Given the description of an element on the screen output the (x, y) to click on. 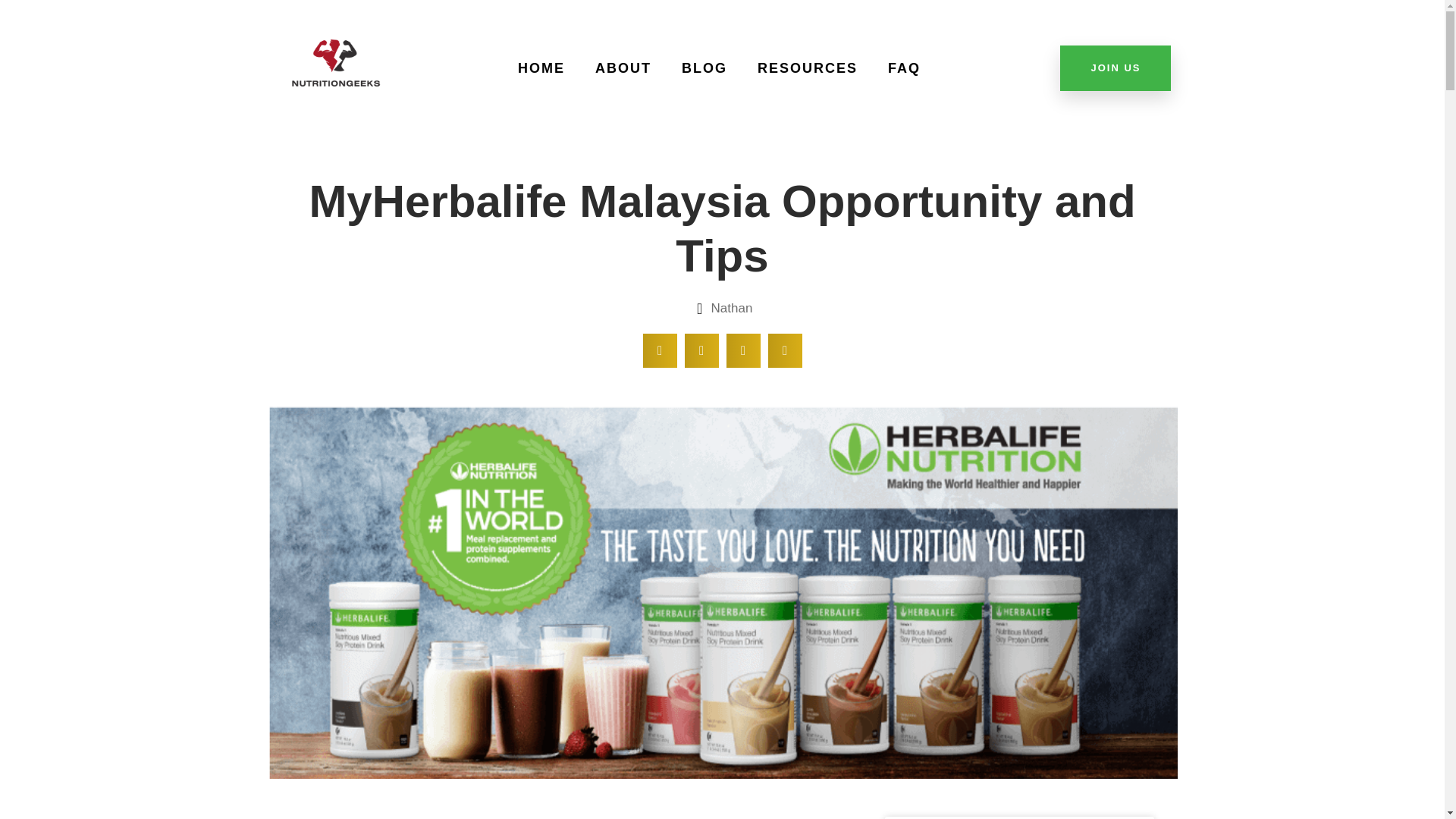
RESOURCES (807, 68)
ABOUT (622, 68)
JOIN US (1114, 67)
Nathan (722, 308)
